Given the description of an element on the screen output the (x, y) to click on. 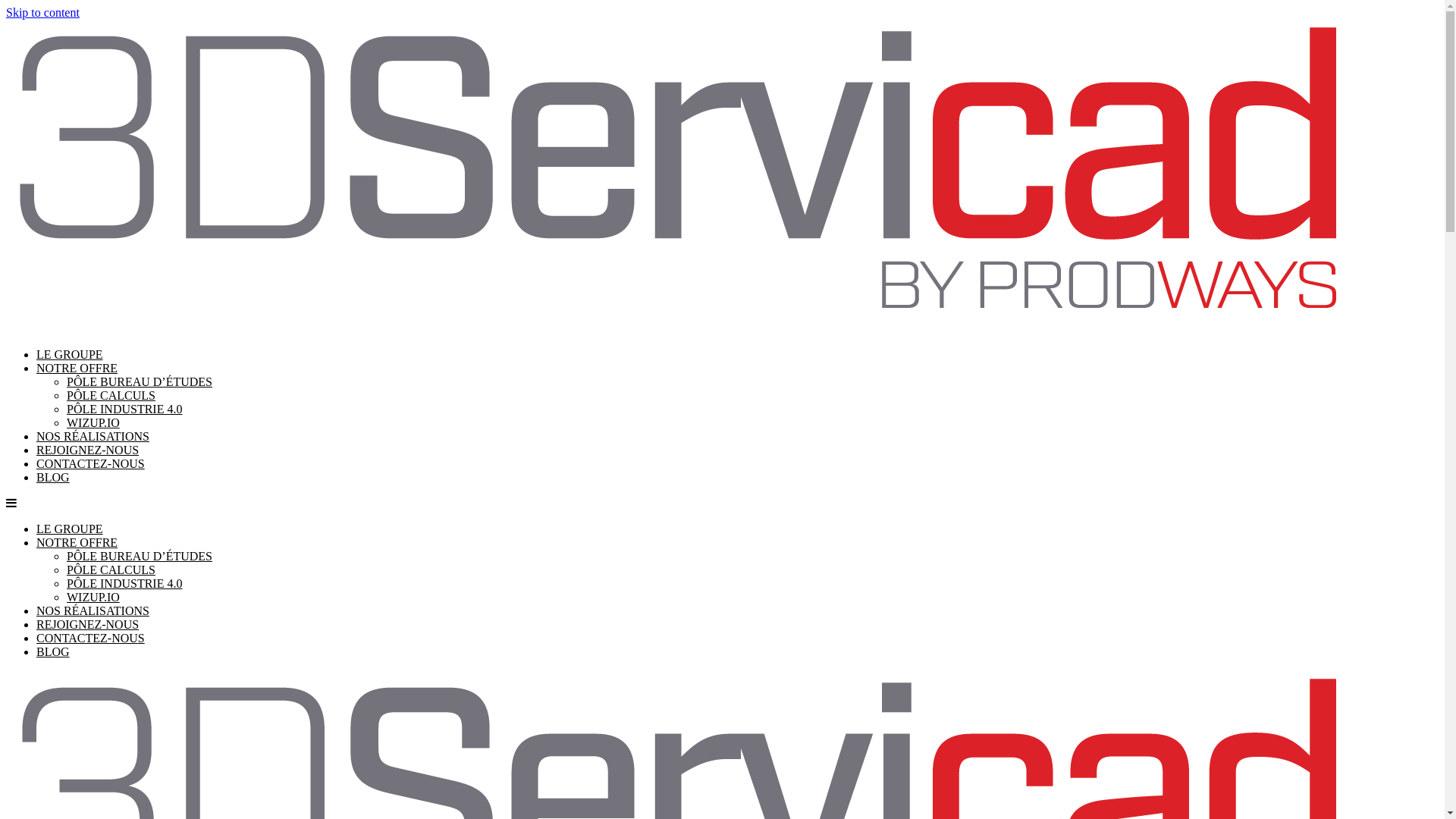
BLOG Element type: text (52, 651)
NOTRE OFFRE Element type: text (76, 542)
REJOIGNEZ-NOUS Element type: text (87, 449)
WIZUP.IO Element type: text (92, 596)
LE GROUPE Element type: text (69, 528)
WIZUP.IO Element type: text (92, 422)
CONTACTEZ-NOUS Element type: text (90, 637)
BLOG Element type: text (52, 476)
REJOIGNEZ-NOUS Element type: text (87, 624)
Skip to content Element type: text (42, 12)
CONTACTEZ-NOUS Element type: text (90, 463)
LE GROUPE Element type: text (69, 354)
NOTRE OFFRE Element type: text (76, 367)
